Given the description of an element on the screen output the (x, y) to click on. 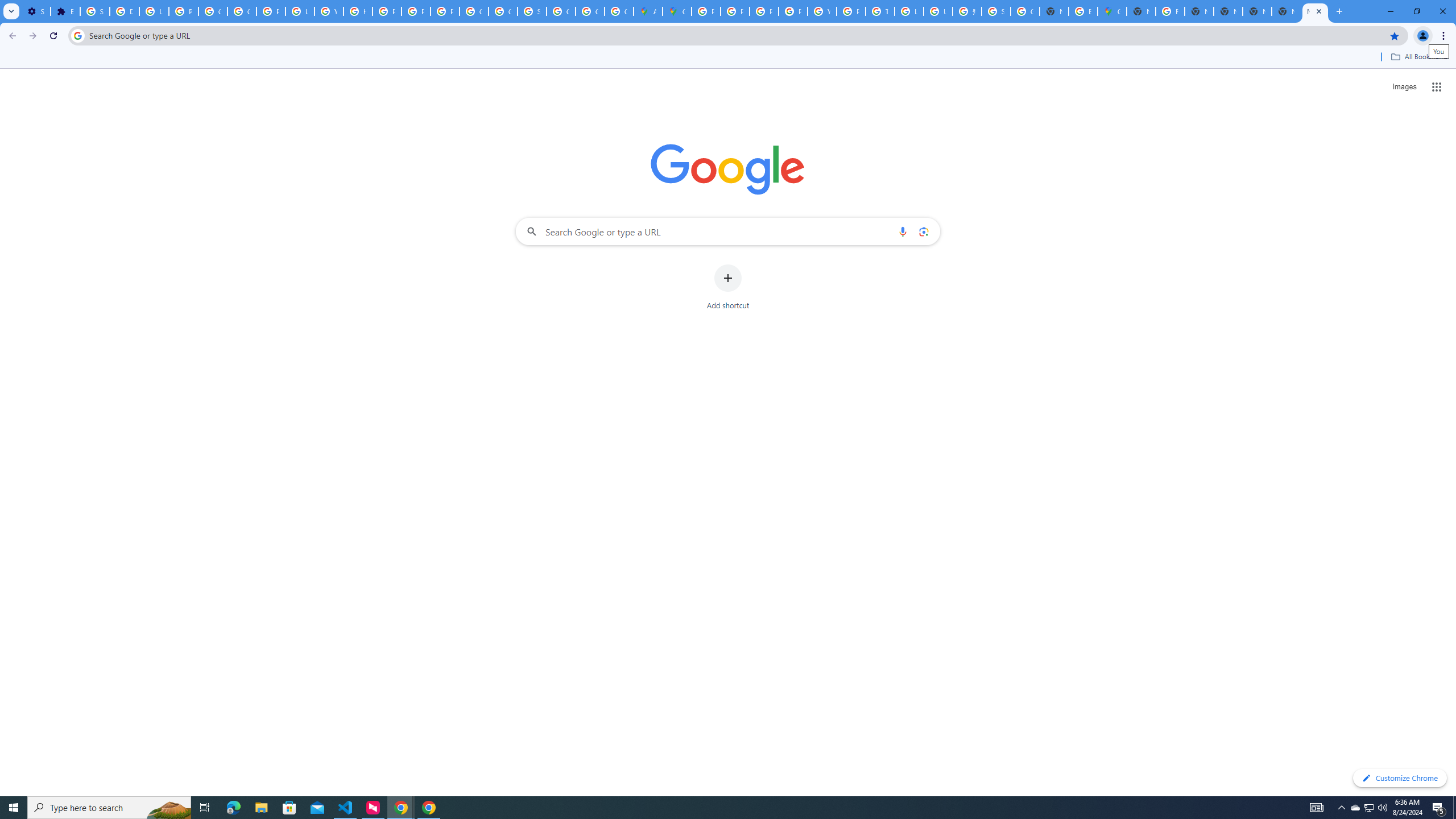
Explore new street-level details - Google Maps Help (1082, 11)
Sign in - Google Accounts (996, 11)
Search Google or type a URL (727, 230)
